Given the description of an element on the screen output the (x, y) to click on. 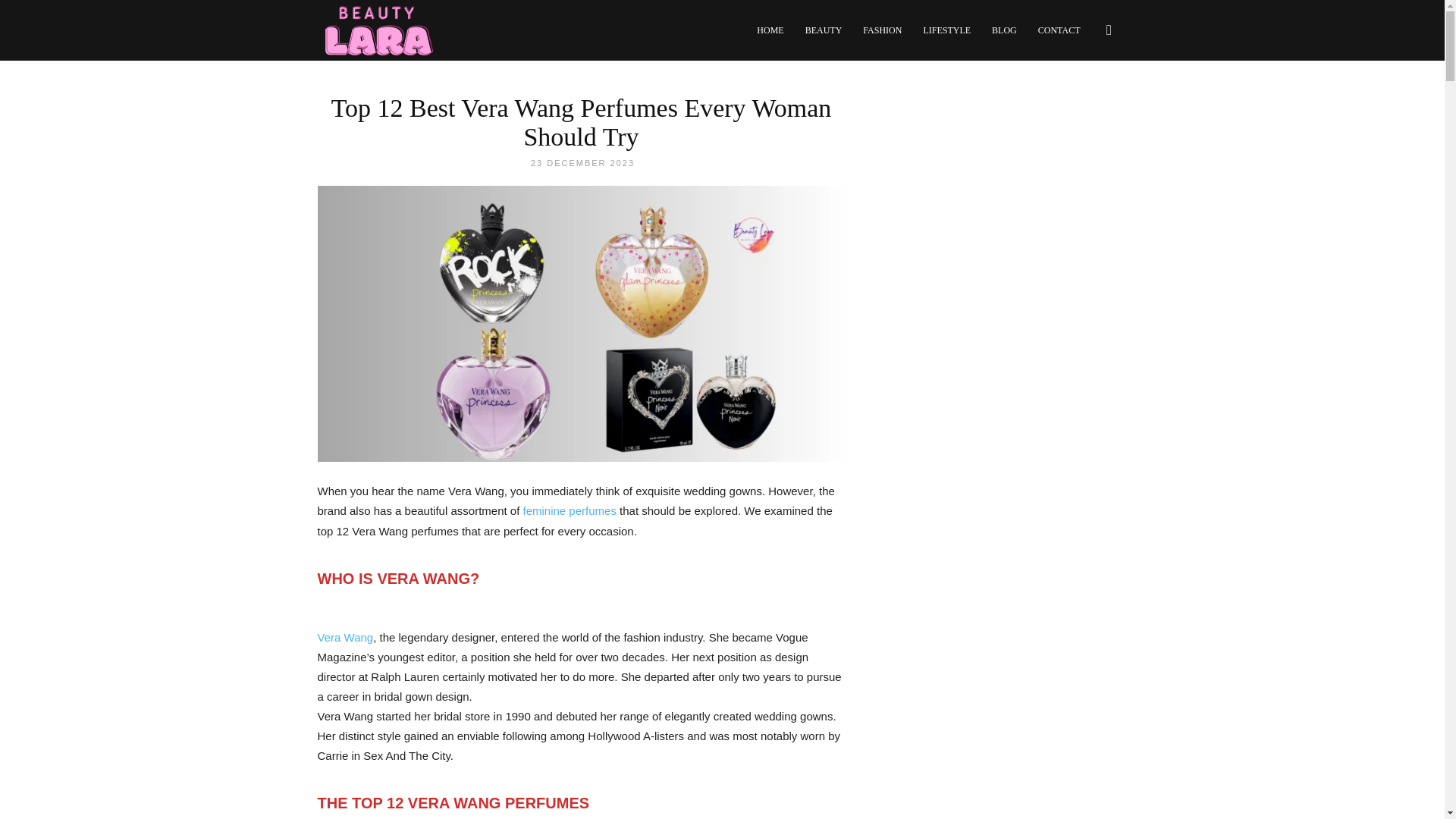
Beauty Lara (378, 30)
BEAUTY (823, 30)
WHO IS VERA WANG? (398, 578)
LIFESTYLE (946, 30)
Search (1083, 103)
feminine perfumes (568, 510)
Vera Wang (344, 636)
FASHION (881, 30)
CONTACT (1058, 30)
